Given the description of an element on the screen output the (x, y) to click on. 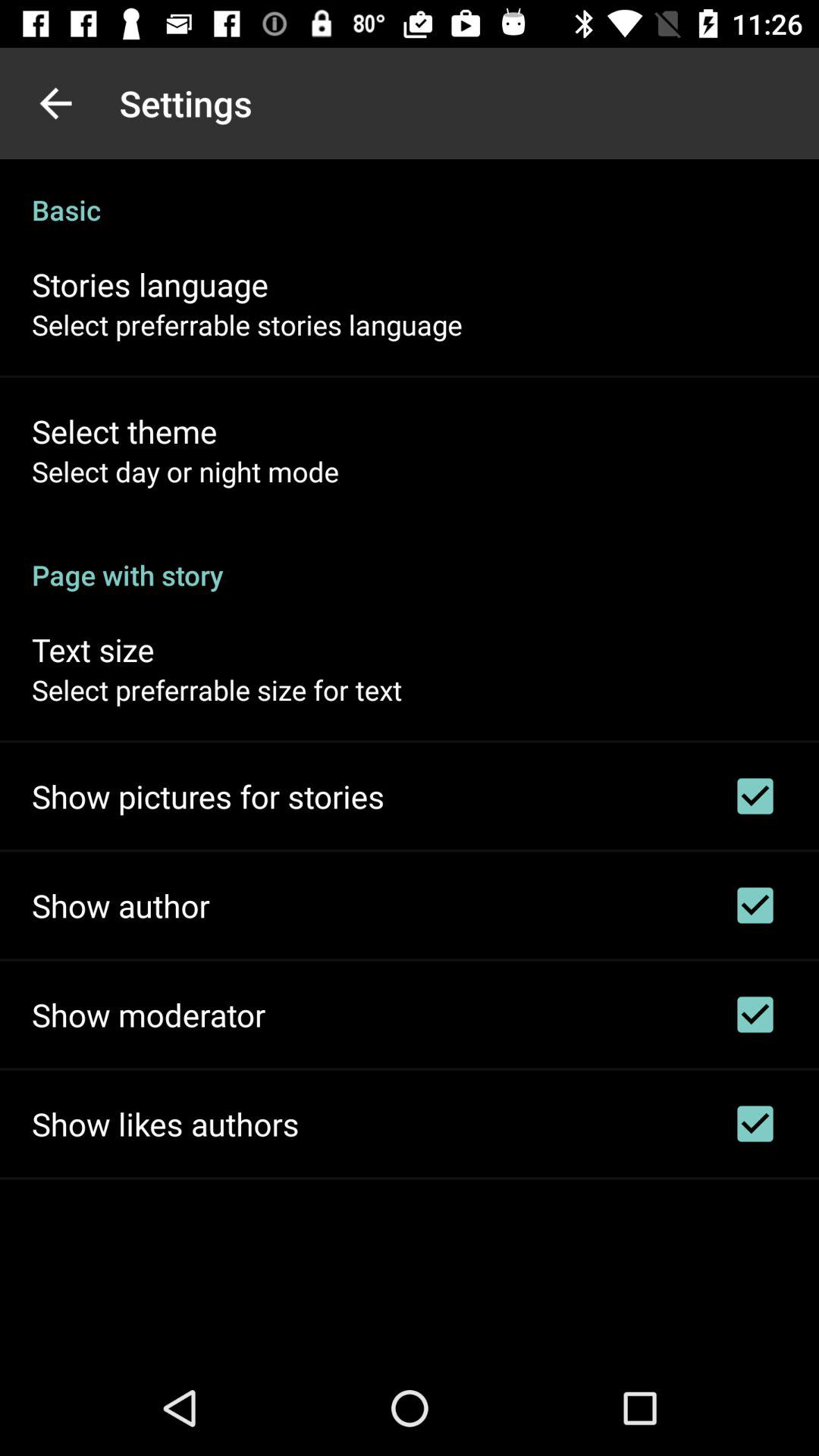
turn off icon above the show likes authors item (148, 1014)
